Given the description of an element on the screen output the (x, y) to click on. 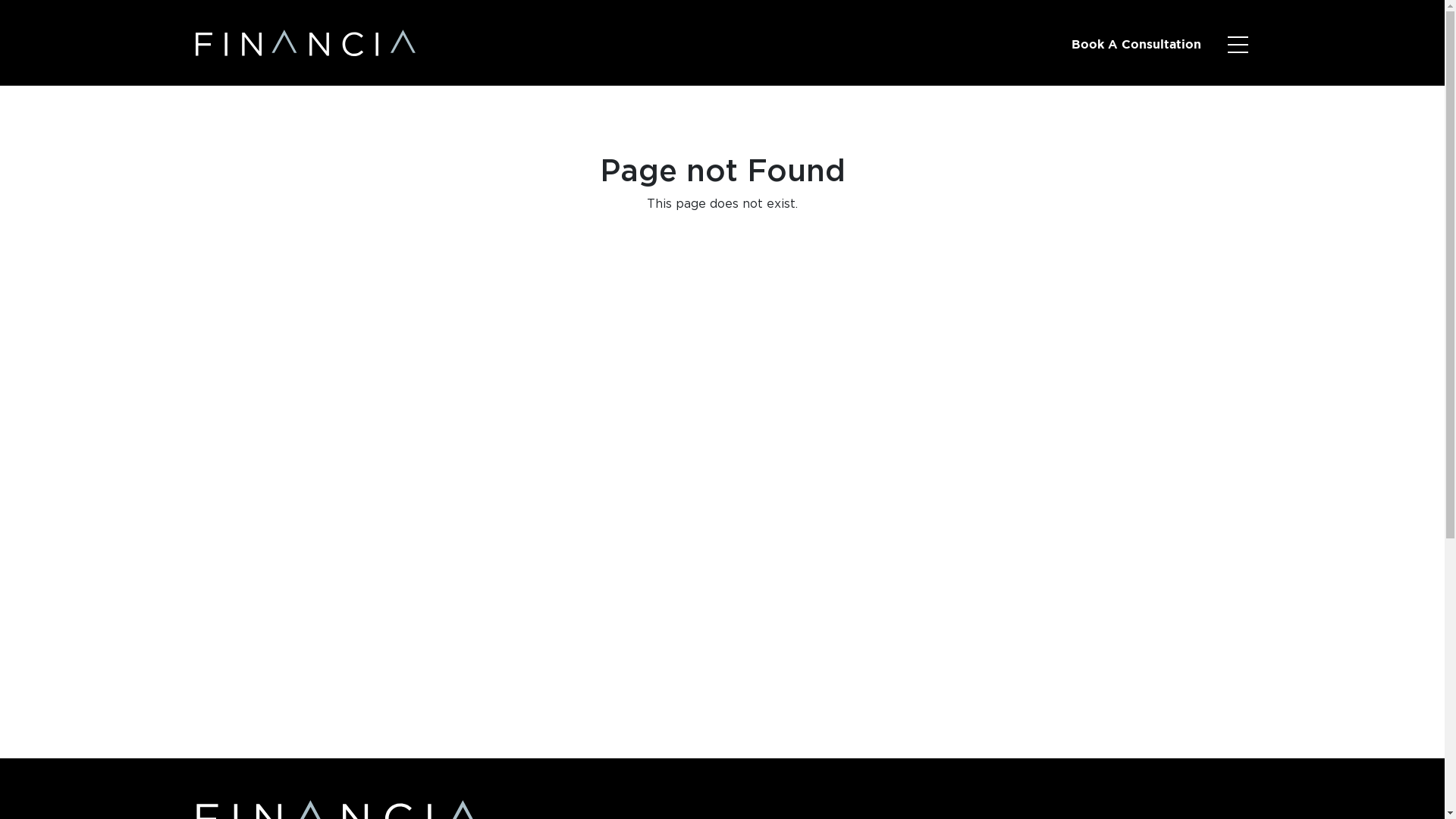
Book A Consultation Element type: text (1135, 45)
